Given the description of an element on the screen output the (x, y) to click on. 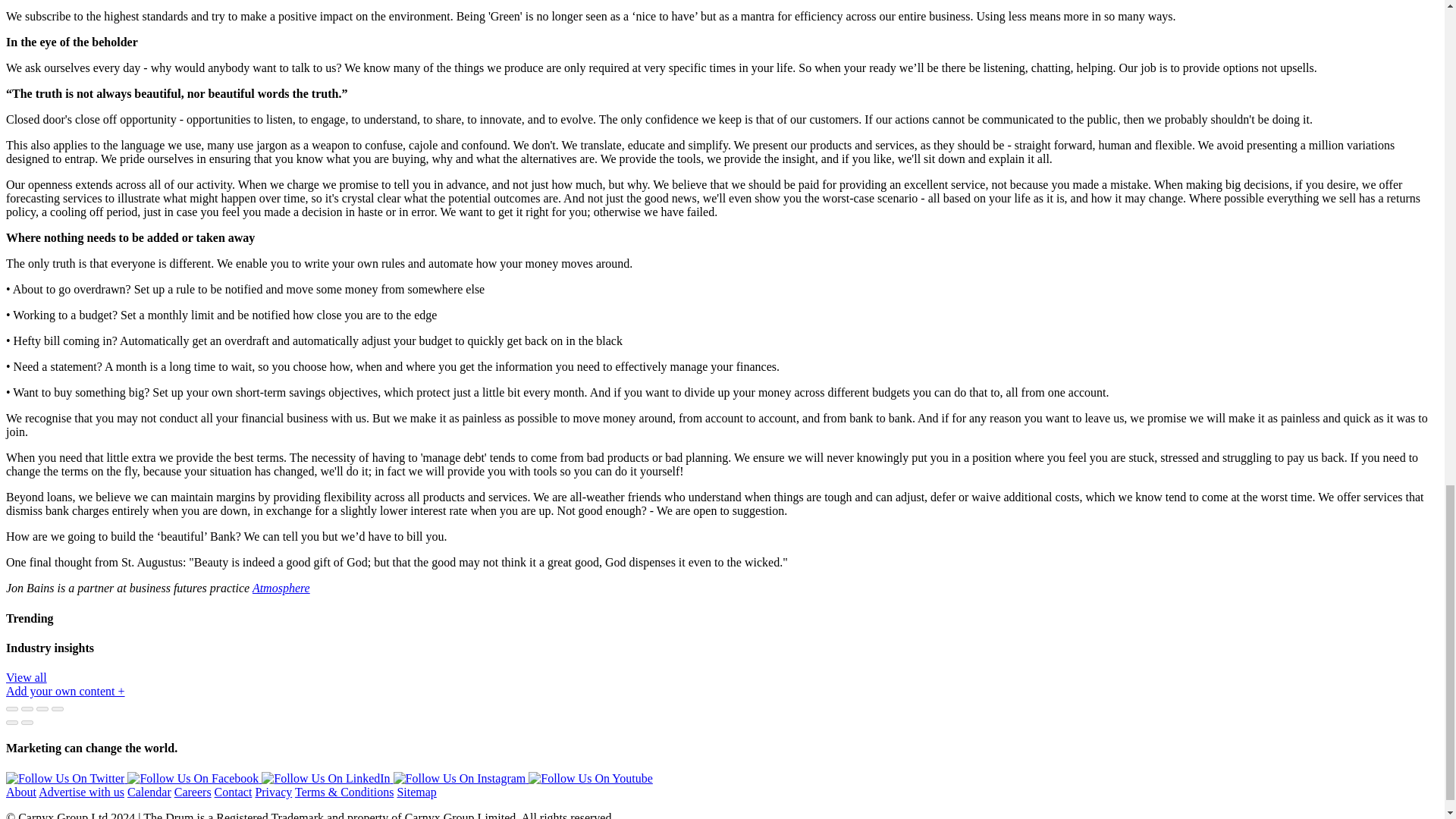
Sitemap (415, 791)
Contact (232, 791)
About (20, 791)
Privacy (273, 791)
Share (27, 708)
Calendar (149, 791)
Advertise with us (81, 791)
Atmosphere (280, 587)
View all (25, 676)
Toggle fullscreen (42, 708)
